Given the description of an element on the screen output the (x, y) to click on. 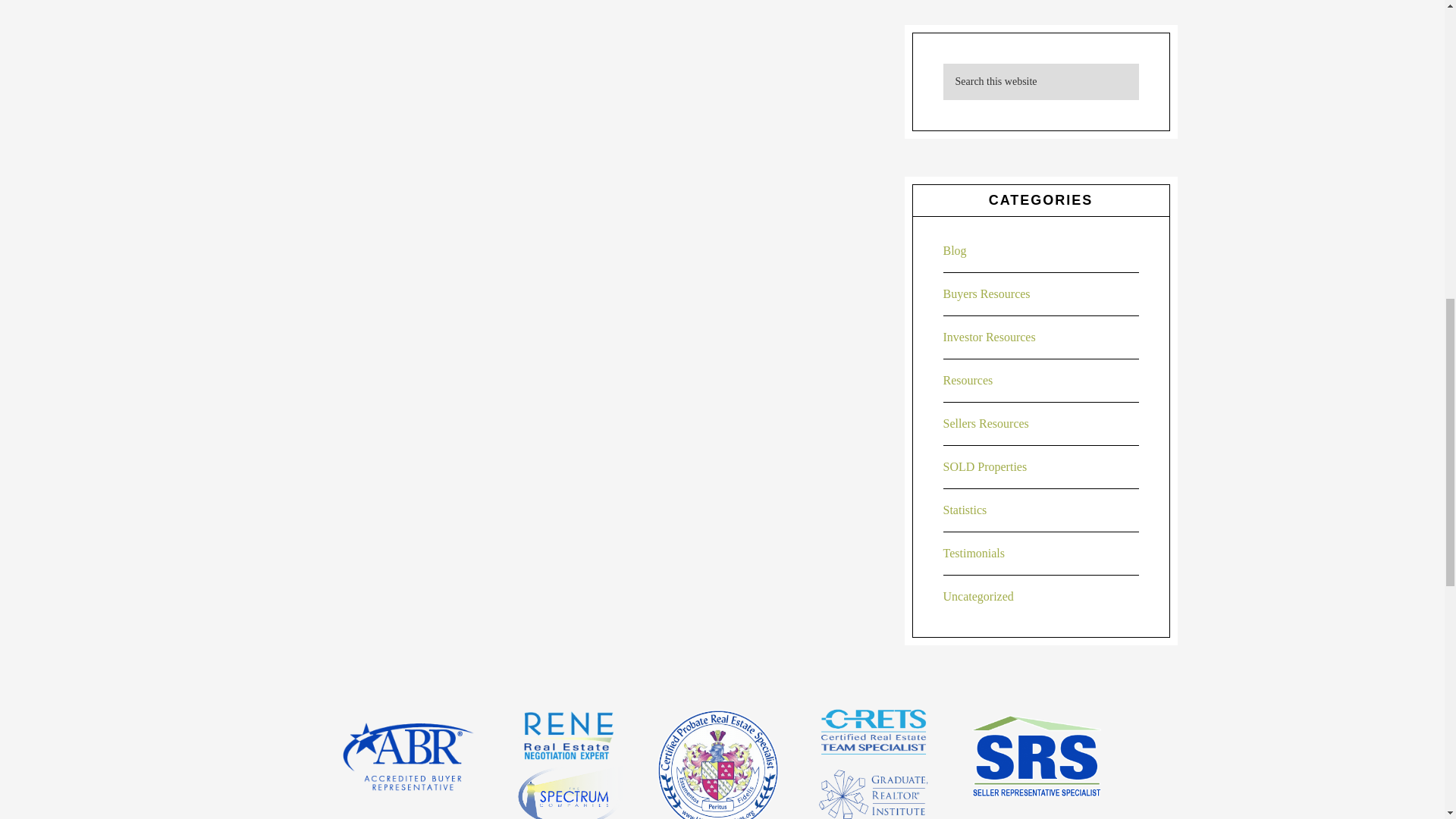
Seller Representative Specialist (1036, 756)
Certified Real Estate Team Specialist (873, 731)
Certified Probate Real Estate Specialist (718, 764)
Graduate Realtor Institute (873, 794)
Real Estate Negotiation Expert (567, 735)
C3P Credit Compliance Professional Designation (567, 791)
Accredited Buyer's Representative Designation (407, 756)
